Given the description of an element on the screen output the (x, y) to click on. 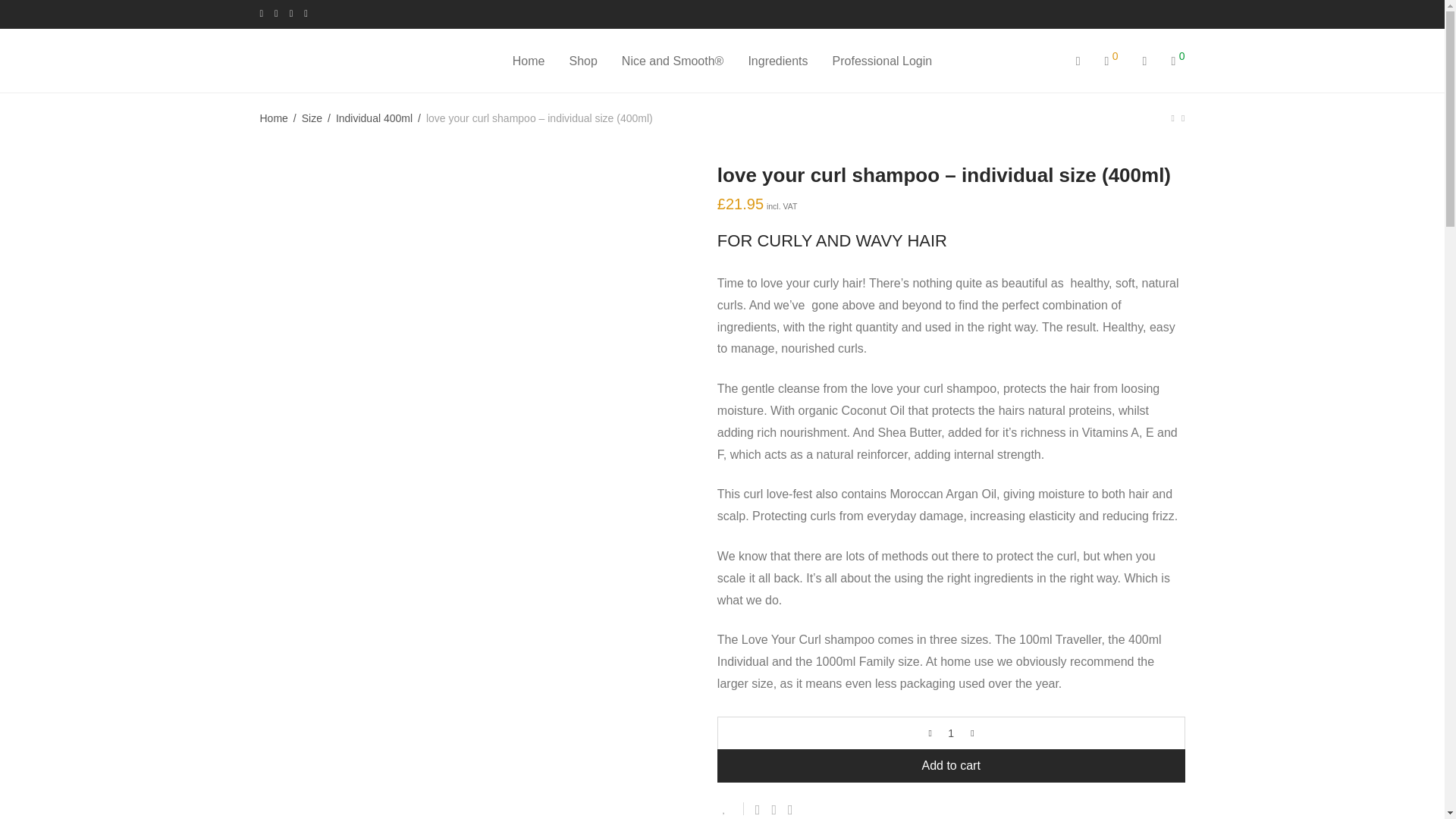
Home (528, 61)
Add to Wishlist (730, 808)
Shop (582, 61)
